Given the description of an element on the screen output the (x, y) to click on. 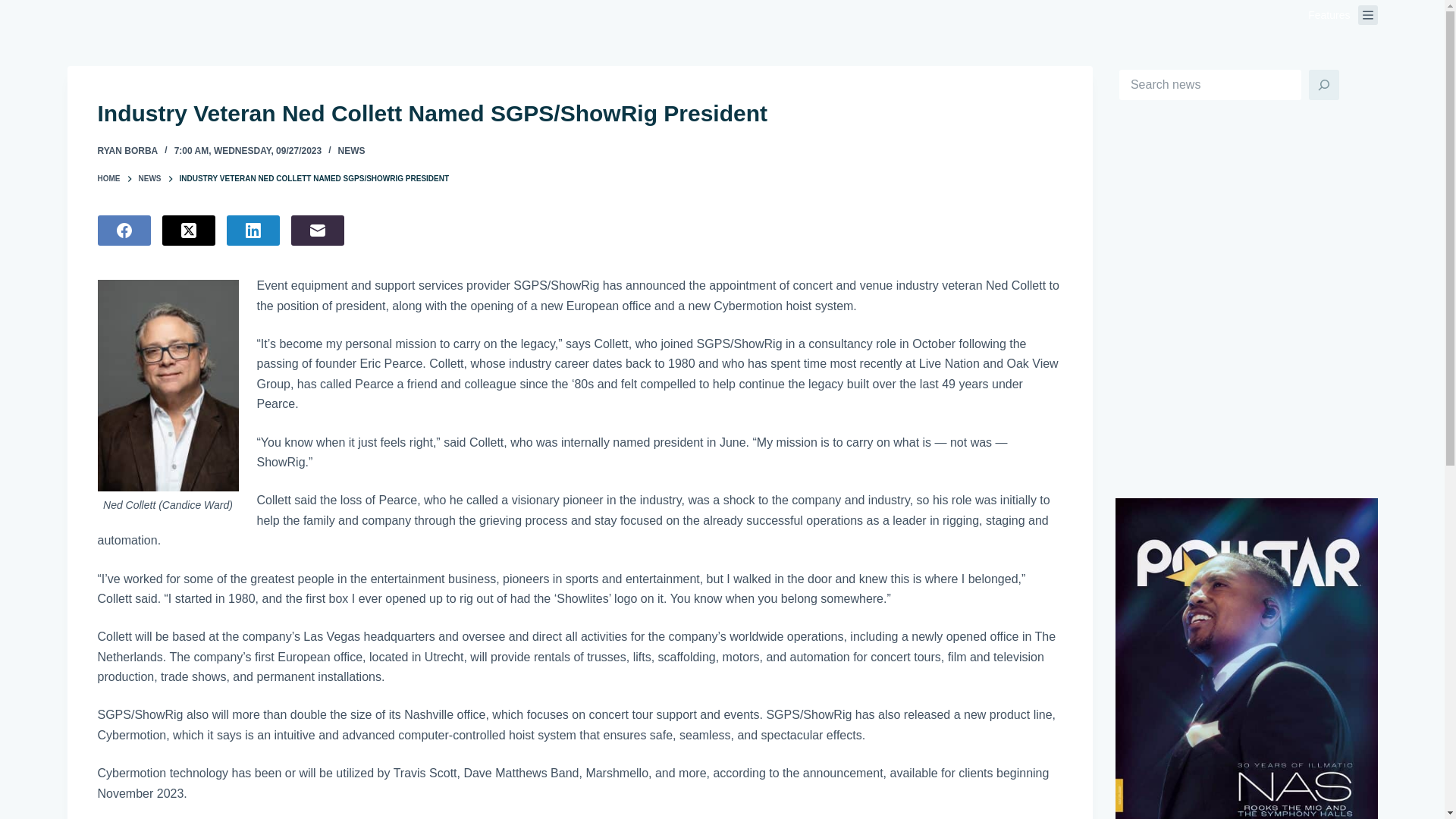
Skip to content (15, 7)
Posts by Ryan Borba (127, 150)
